Given the description of an element on the screen output the (x, y) to click on. 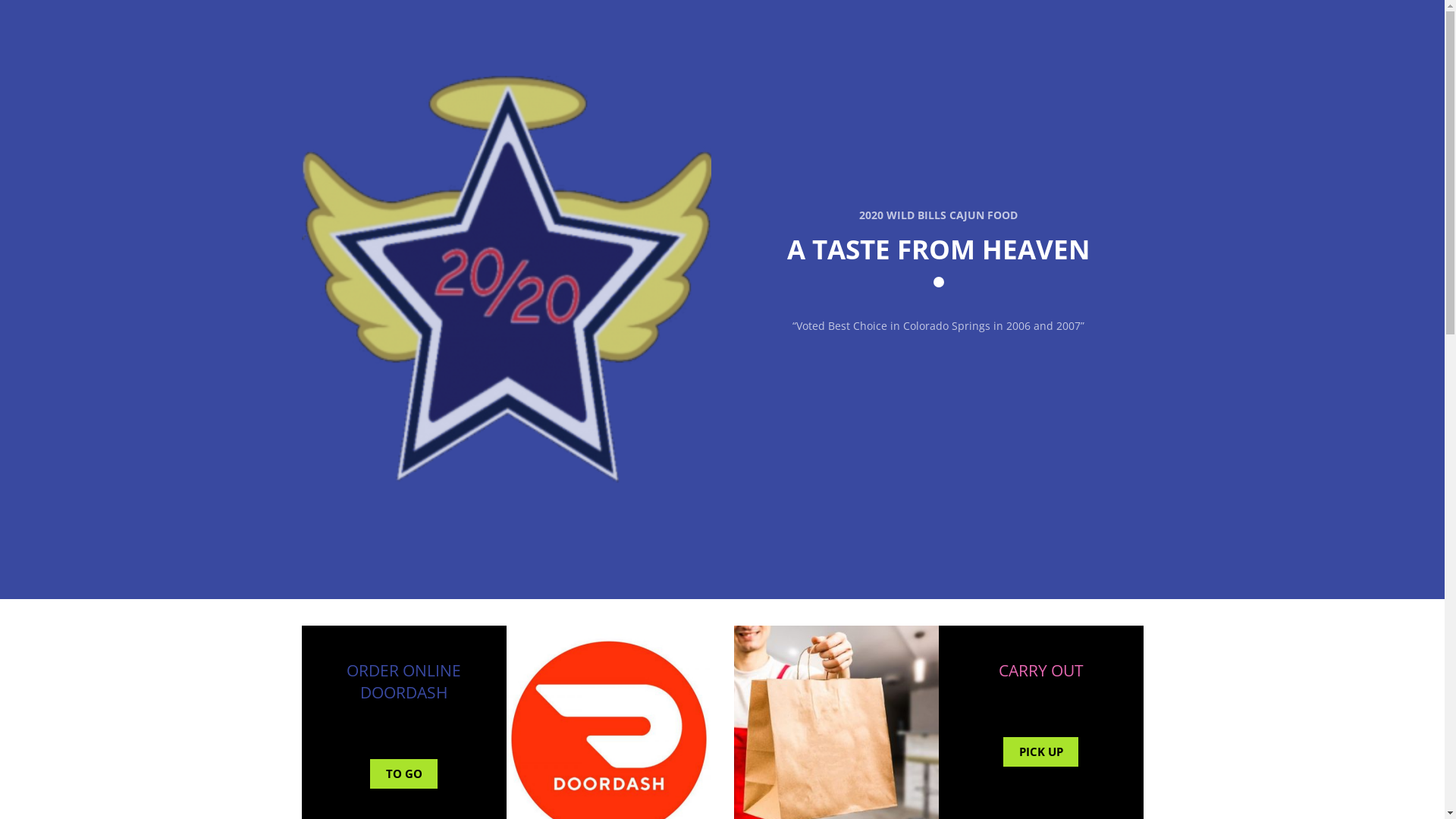
PICK UP Element type: text (1041, 751)
TO GO Element type: text (404, 773)
ORDER ONLINE Element type: text (403, 669)
DOORDASH Element type: text (403, 691)
